Given the description of an element on the screen output the (x, y) to click on. 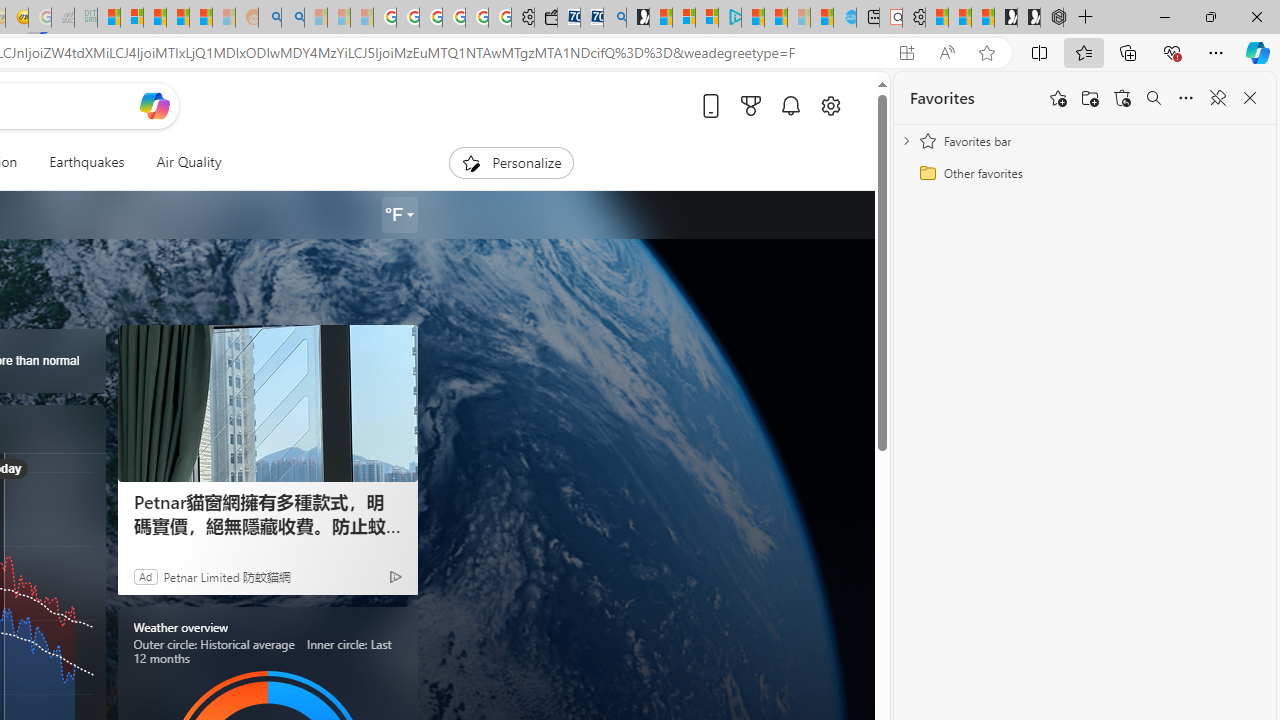
Add this page to favorites (1058, 98)
Close favorites (1250, 98)
